Given the description of an element on the screen output the (x, y) to click on. 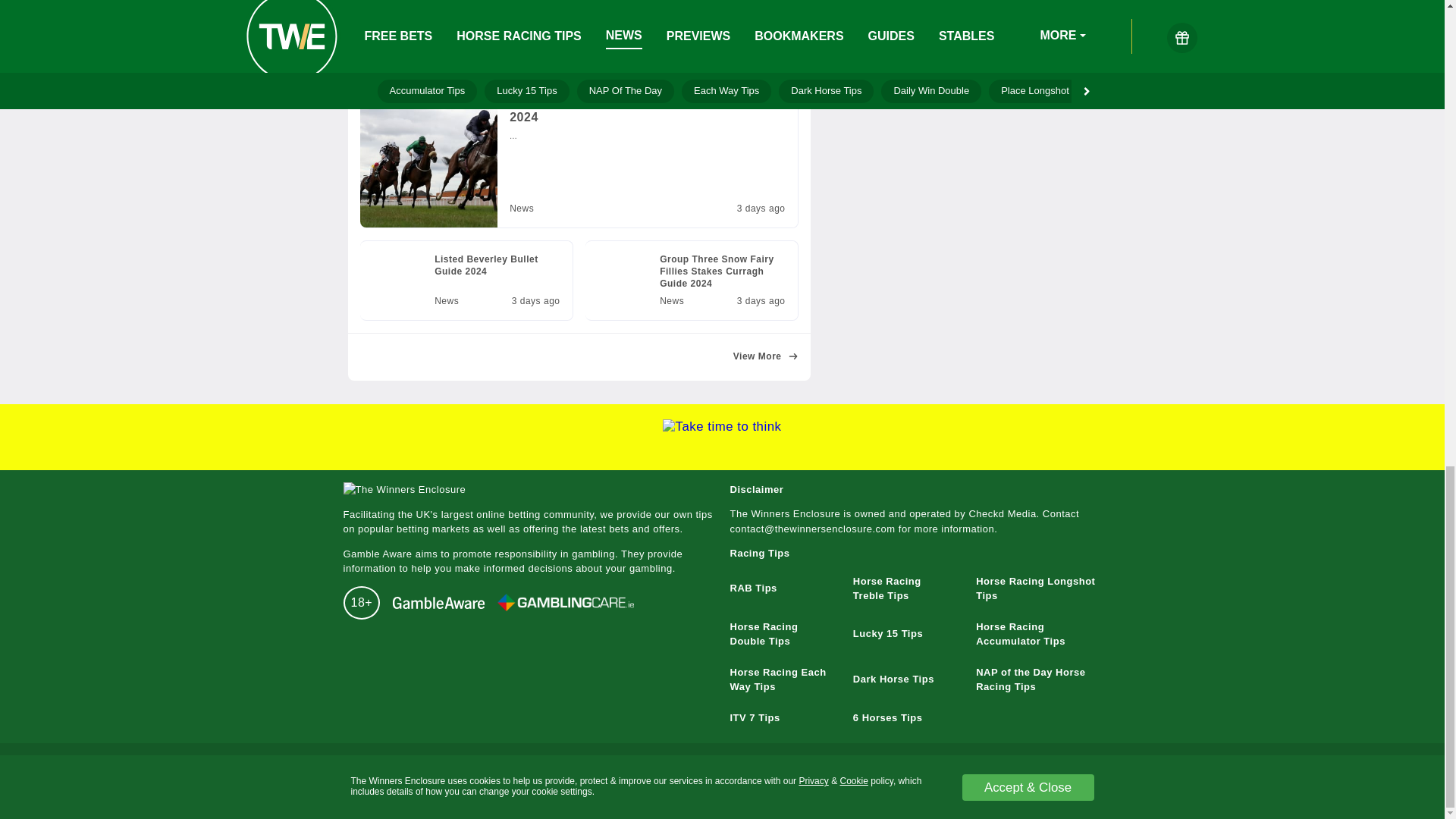
View More (765, 357)
Related News (578, 200)
Racing Tips (465, 280)
